Given the description of an element on the screen output the (x, y) to click on. 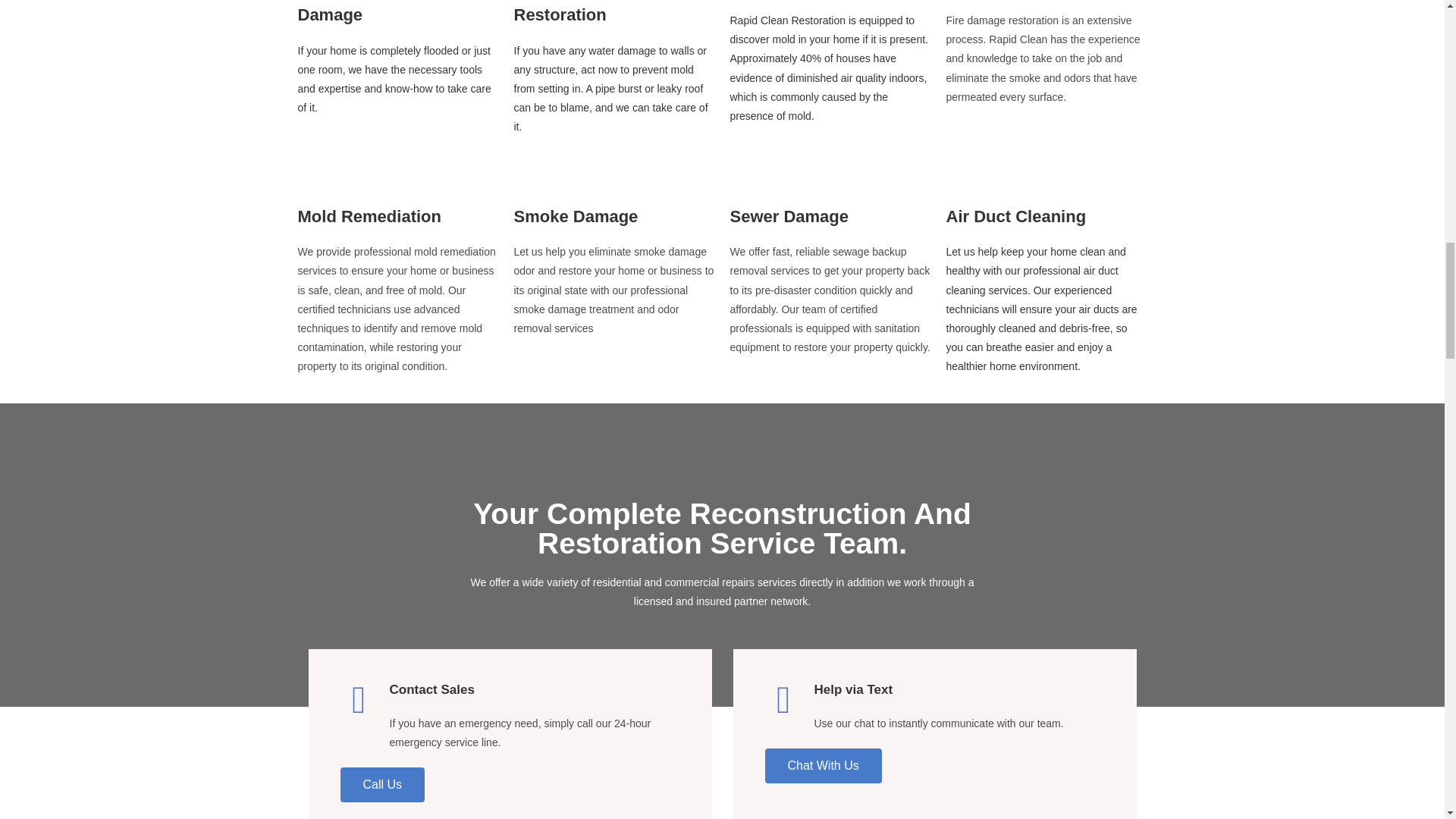
Call Us (382, 784)
